Given the description of an element on the screen output the (x, y) to click on. 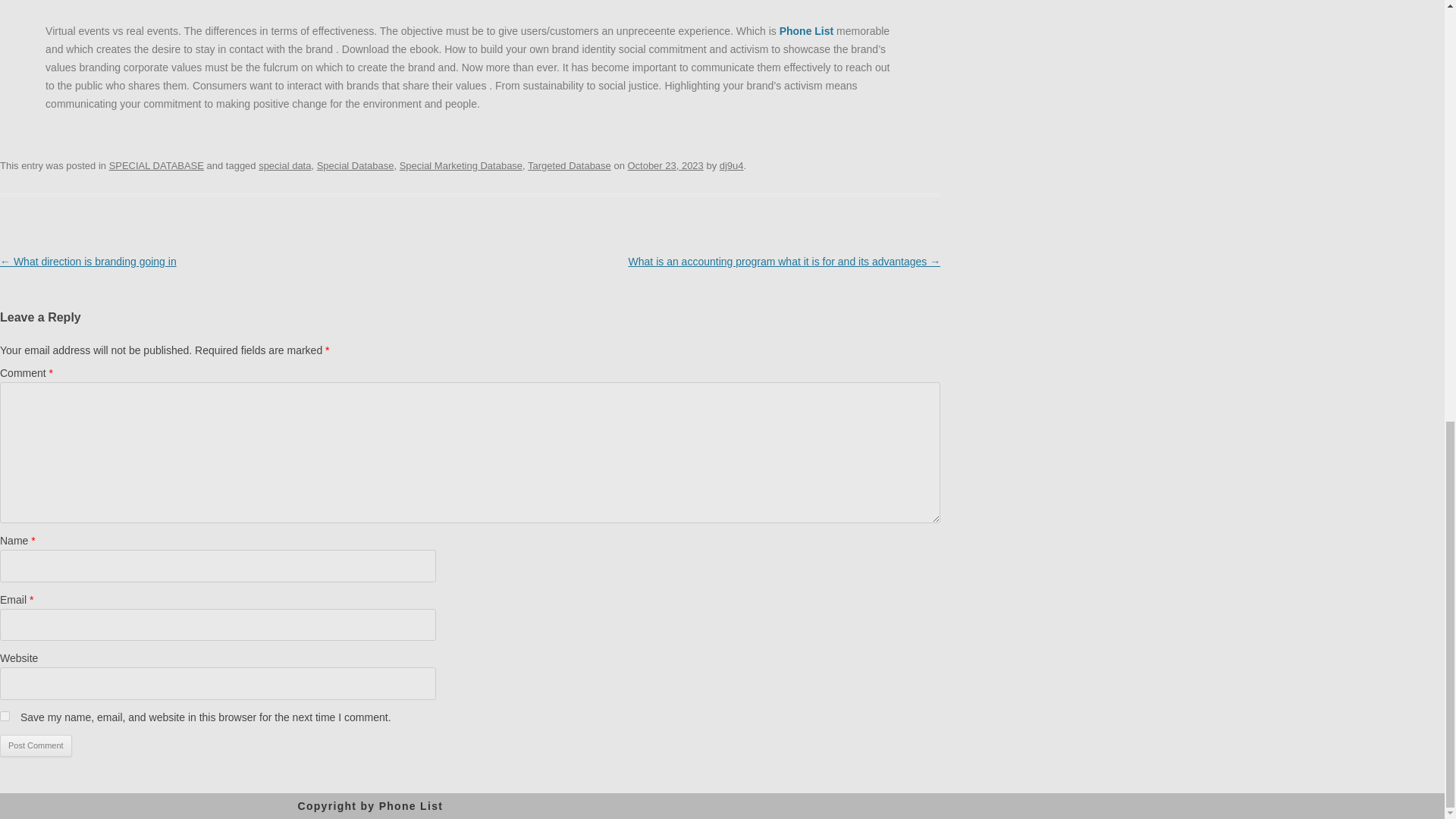
Special Marketing Database (460, 165)
October 23, 2023 (665, 165)
yes (5, 716)
Phone List (806, 30)
Post Comment (35, 745)
SPECIAL DATABASE (156, 165)
dj9u4 (731, 165)
Post Comment (35, 745)
Phone List (411, 806)
View all posts by dj9u4 (731, 165)
special data (285, 165)
6:30 am (665, 165)
Targeted Database (569, 165)
Special Database (355, 165)
